Given the description of an element on the screen output the (x, y) to click on. 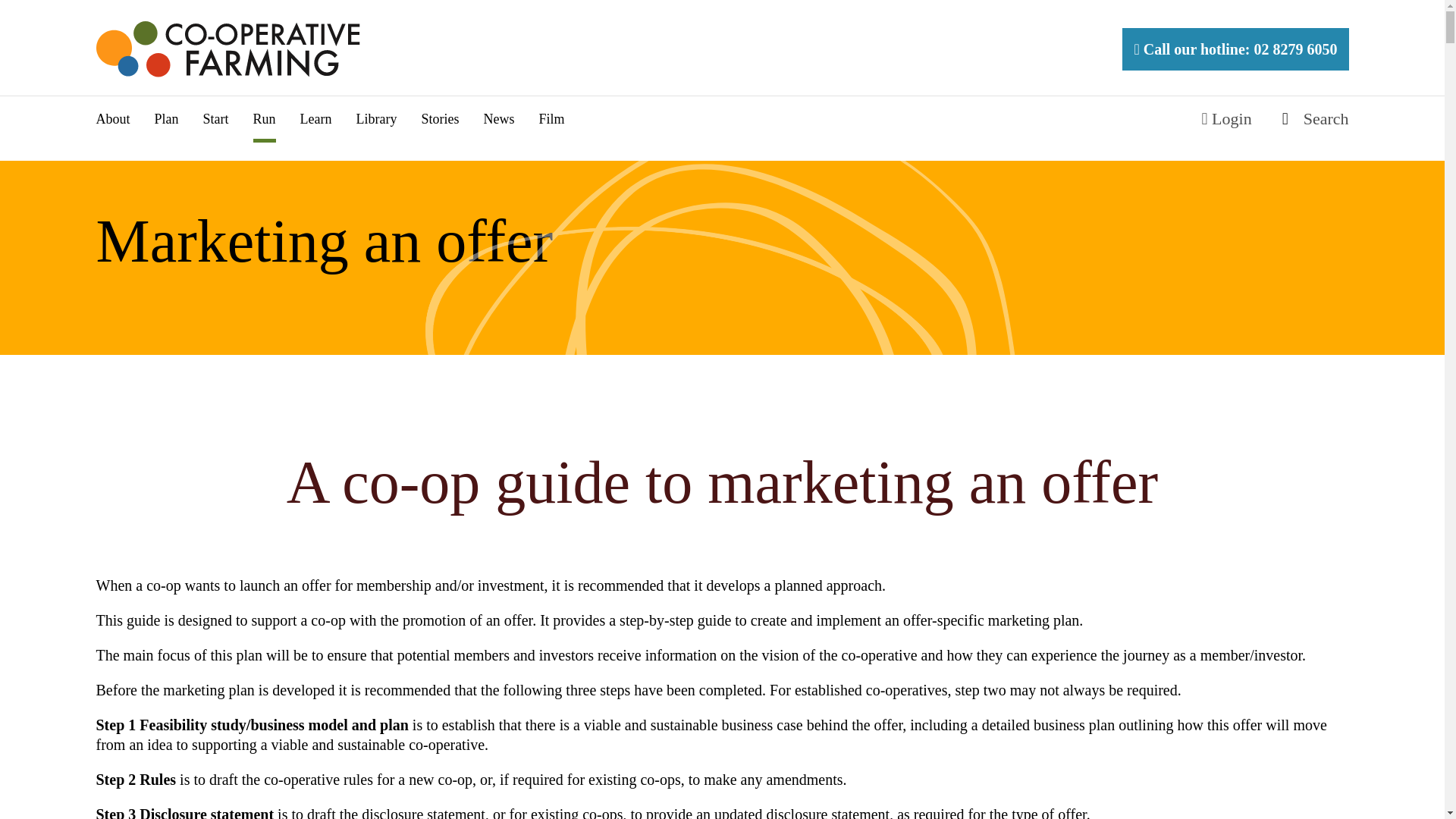
Plan (166, 118)
Learn (315, 118)
Start (215, 118)
Call our hotline: 02 8279 6050 (1235, 48)
About (112, 118)
Stories (439, 118)
Library (376, 118)
Run (264, 118)
